Given the description of an element on the screen output the (x, y) to click on. 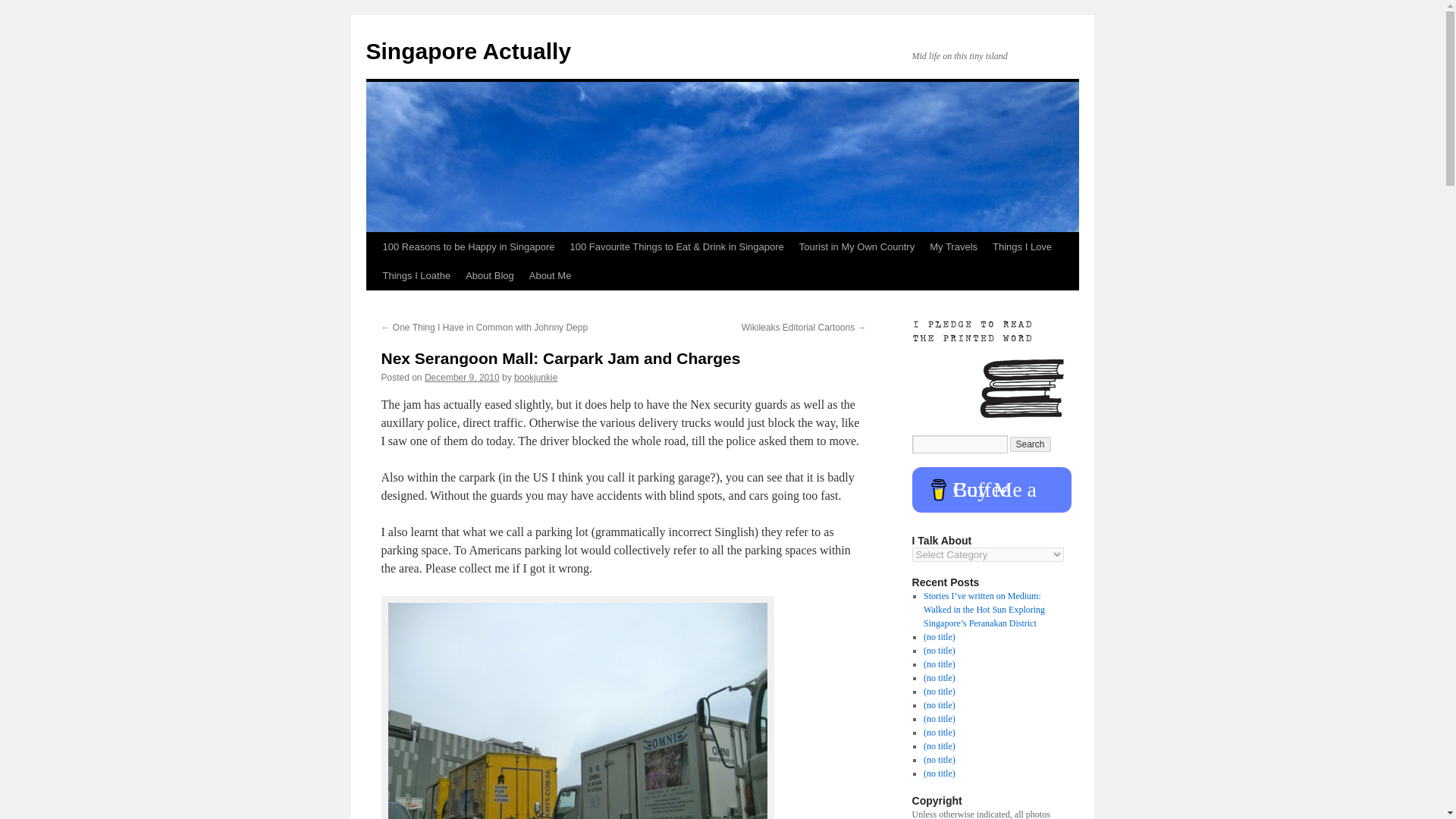
About Me (550, 275)
11:21 am (462, 377)
December 9, 2010 (462, 377)
Skip to content (372, 274)
Tourist in My Own Country (856, 246)
Things I Love (1022, 246)
About Blog (489, 275)
100 Reasons to be Happy in Singapore (468, 246)
Things I Loathe (416, 275)
Search (1030, 444)
My Travels (953, 246)
bookjunkie (535, 377)
nexdecfb11 (577, 710)
Singapore Actually (467, 50)
Skip to content (372, 274)
